Given the description of an element on the screen output the (x, y) to click on. 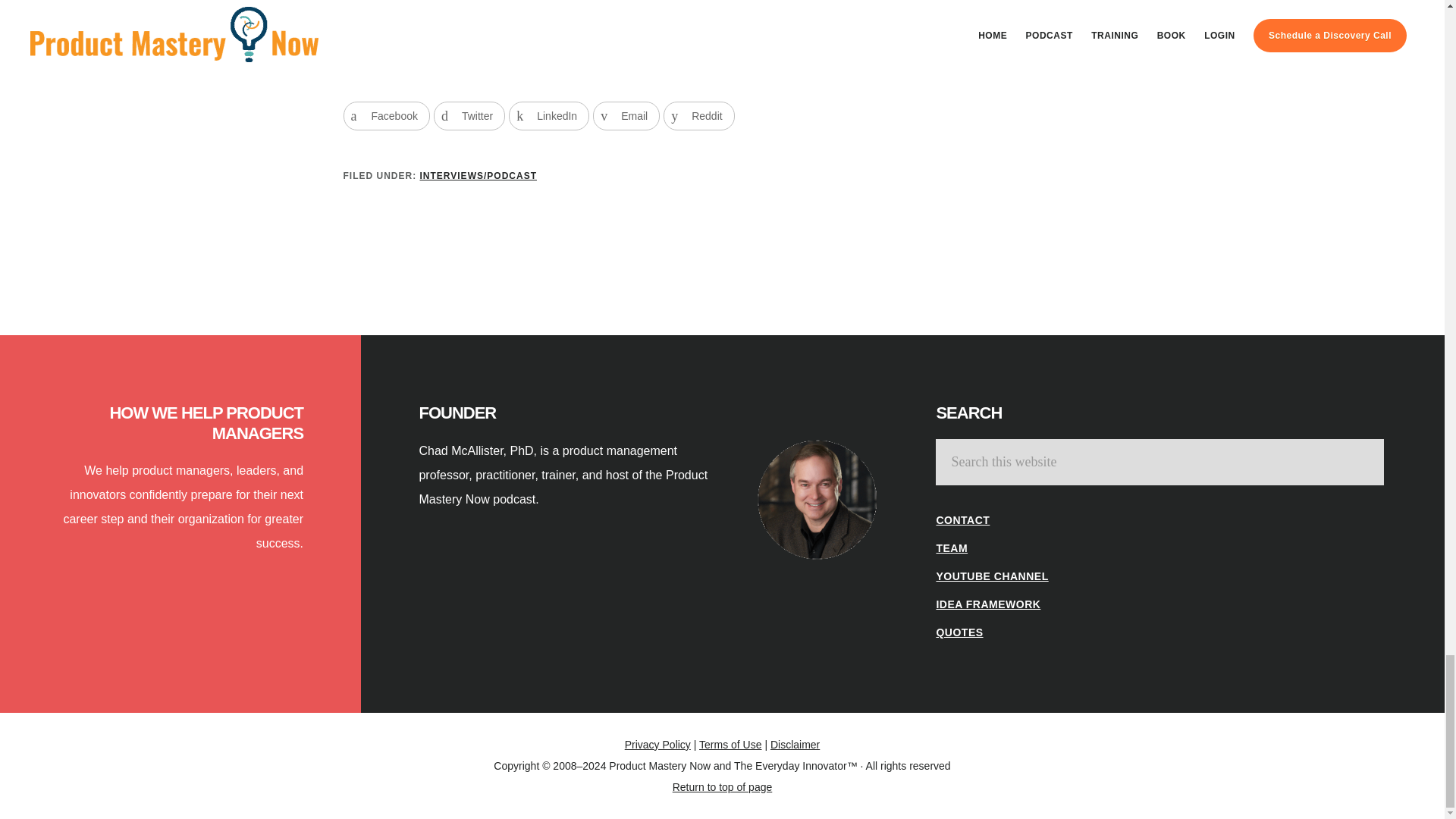
Share on Email (625, 115)
CONTACT (963, 520)
Share on Reddit (698, 115)
Facebook (385, 115)
Share on LinkedIn (548, 115)
IDEA FRAMEWORK (988, 604)
Share on Twitter (469, 115)
